Given the description of an element on the screen output the (x, y) to click on. 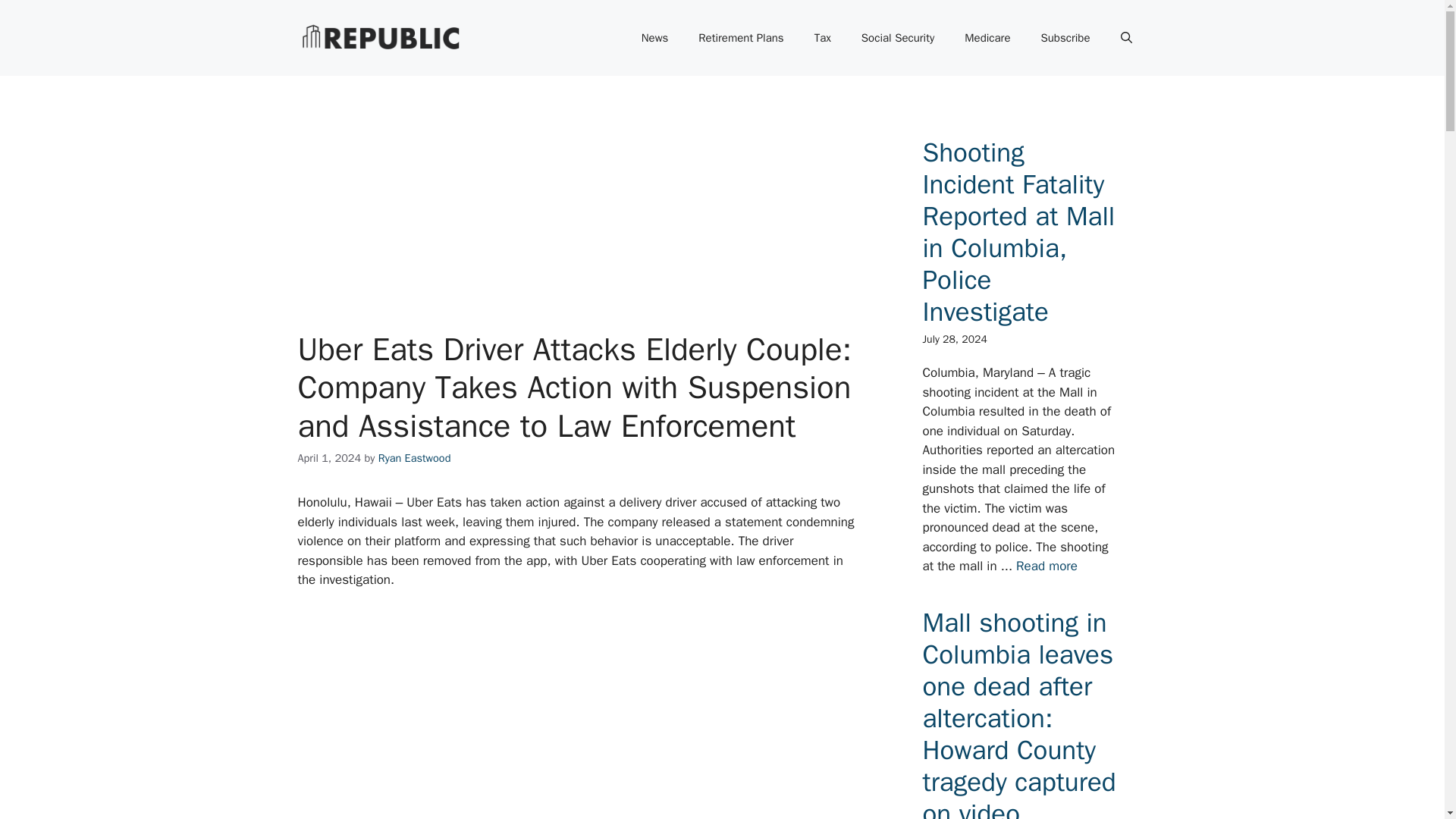
Read more (1046, 565)
Ryan Eastwood (414, 458)
News (655, 37)
Subscribe (1065, 37)
Tax (822, 37)
Medicare (987, 37)
View all posts by Ryan Eastwood (414, 458)
Social Security (897, 37)
Retirement Plans (739, 37)
